Given the description of an element on the screen output the (x, y) to click on. 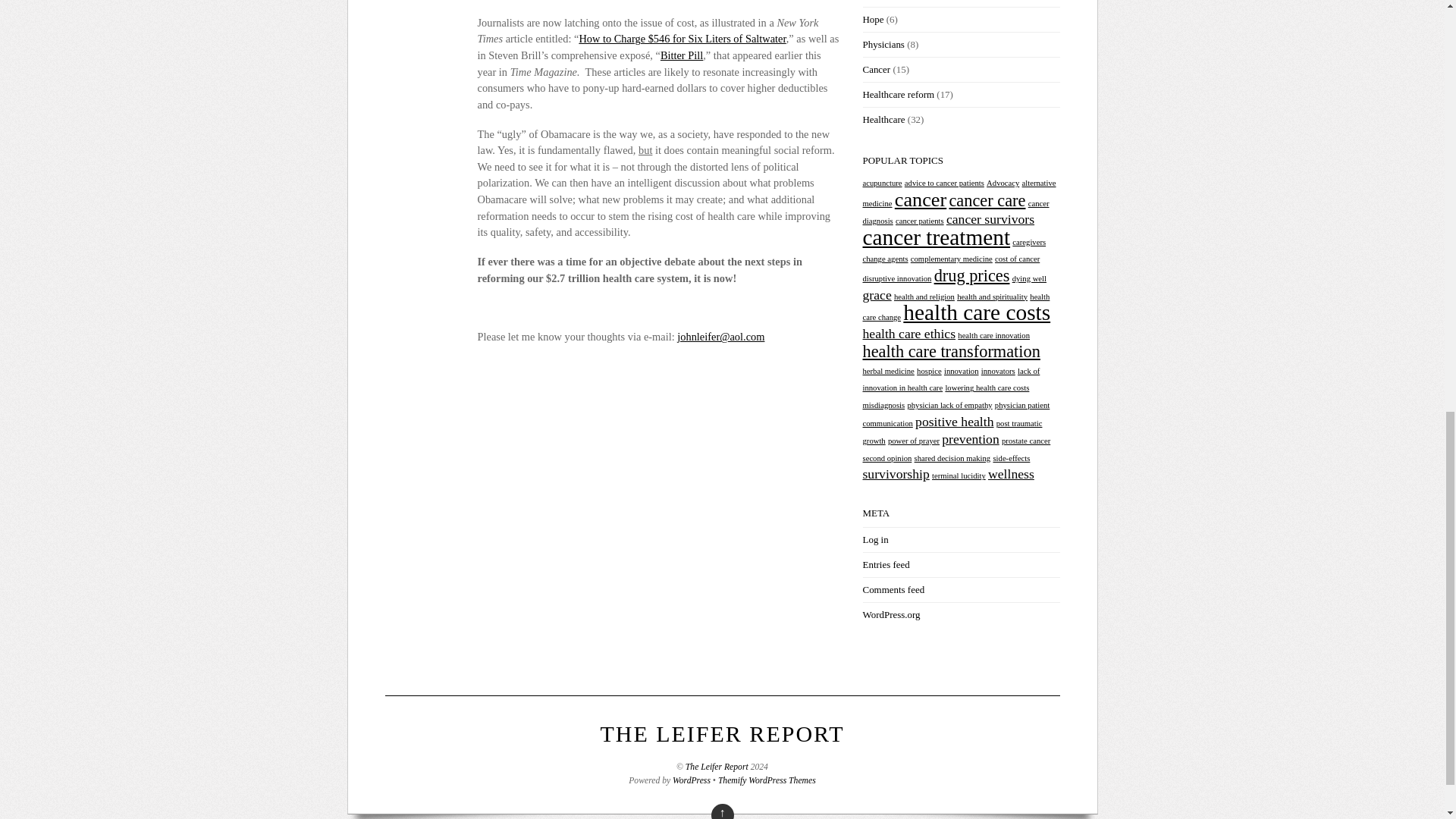
The Leifer Report (721, 733)
Healthcare reform (898, 93)
acupuncture (882, 183)
Bitter Pill (682, 55)
Physicians (883, 43)
Cancer (877, 69)
Hope (873, 19)
Healthcare (884, 119)
